Given the description of an element on the screen output the (x, y) to click on. 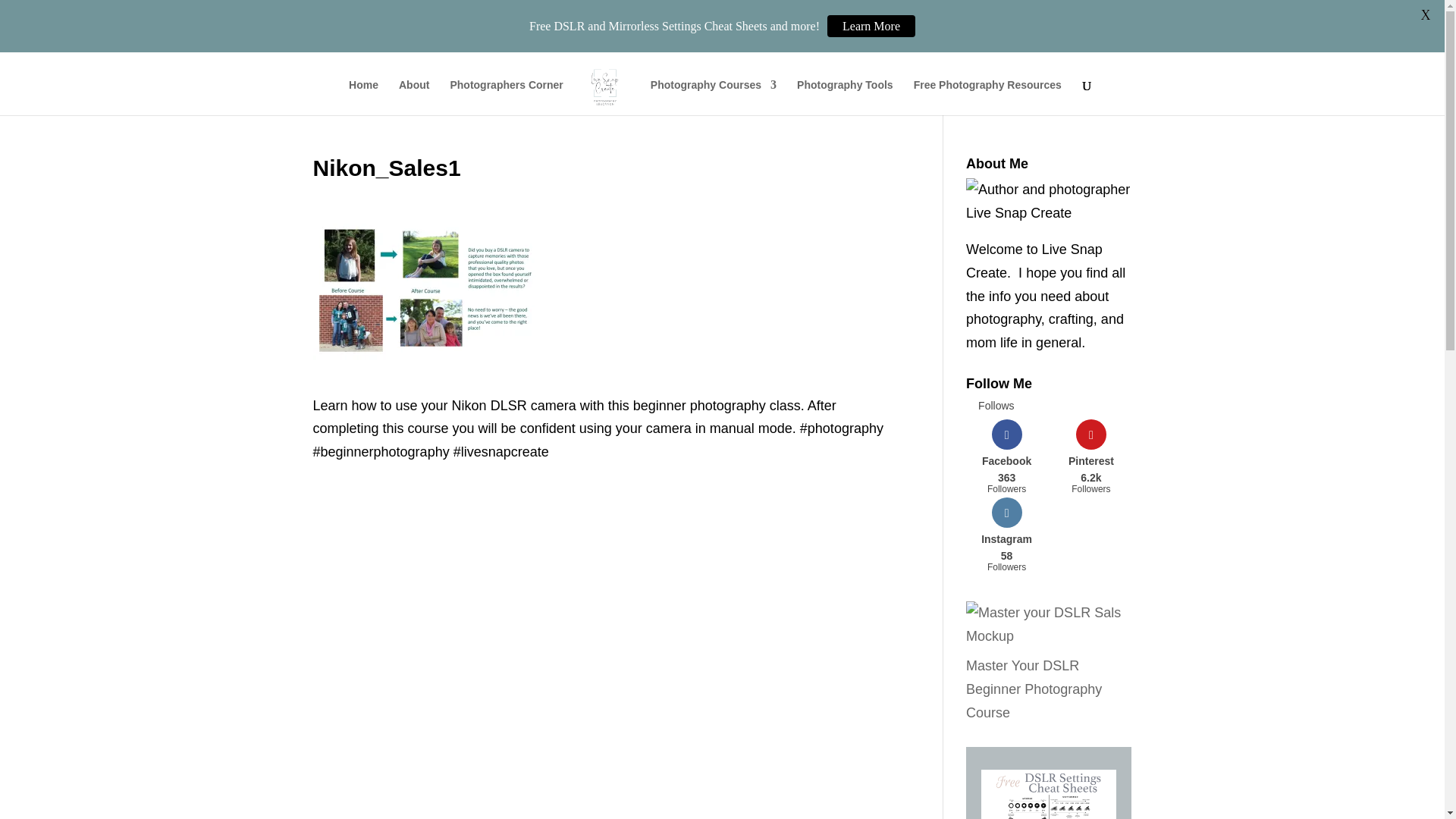
Photography Tools (844, 97)
Free Photography Resources (987, 97)
Learn More (871, 25)
Master Your DSLR Beginner Photography Course (1034, 688)
Photography Courses (1006, 456)
Photographers Corner (1090, 456)
